Given the description of an element on the screen output the (x, y) to click on. 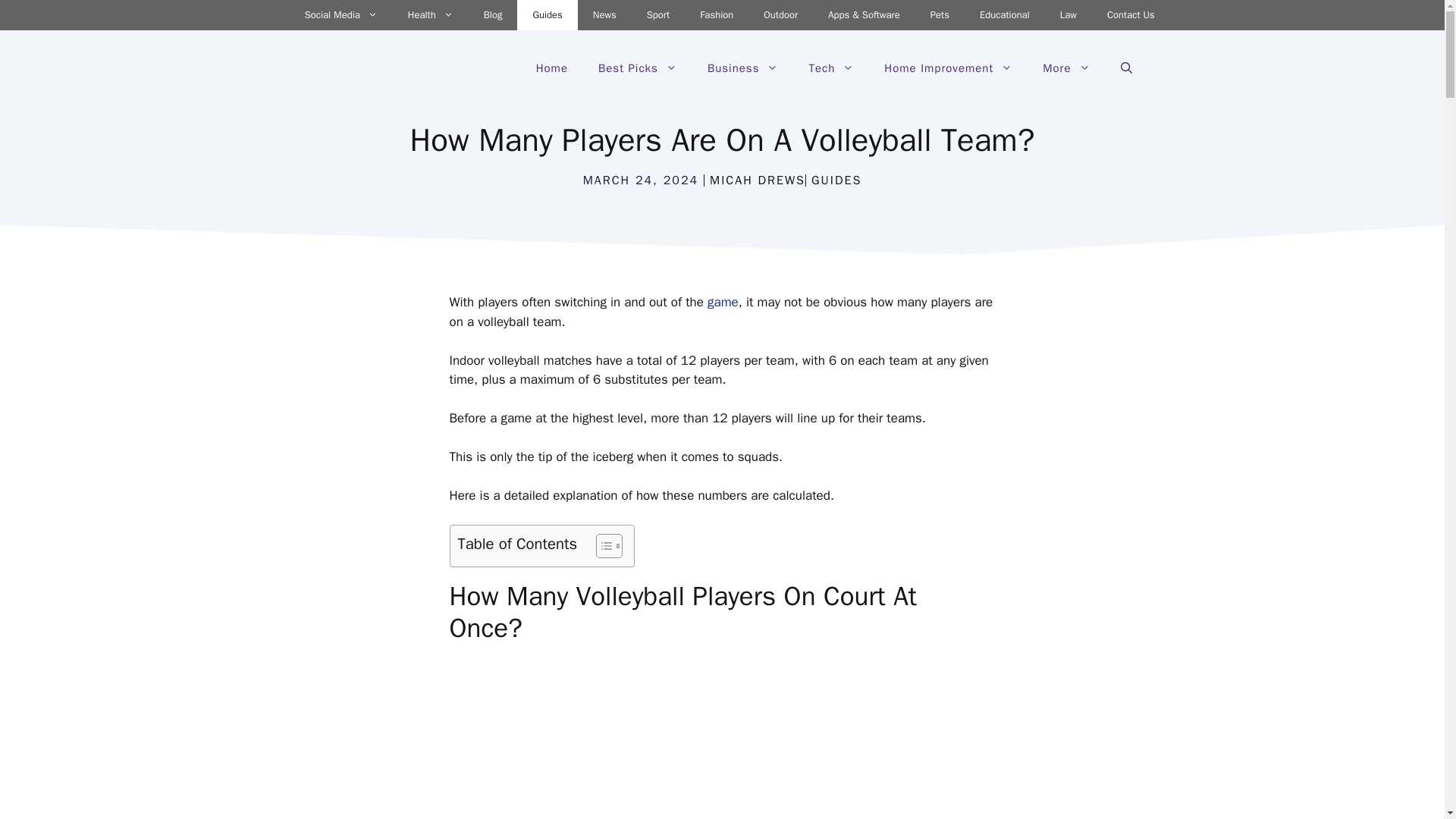
Law (1068, 15)
Educational (1004, 15)
Best Picks (638, 67)
Sport (657, 15)
Blog (493, 15)
Health (430, 15)
Contact Us (1131, 15)
Social Media (341, 15)
Fashion (716, 15)
Guides (546, 15)
